Given the description of an element on the screen output the (x, y) to click on. 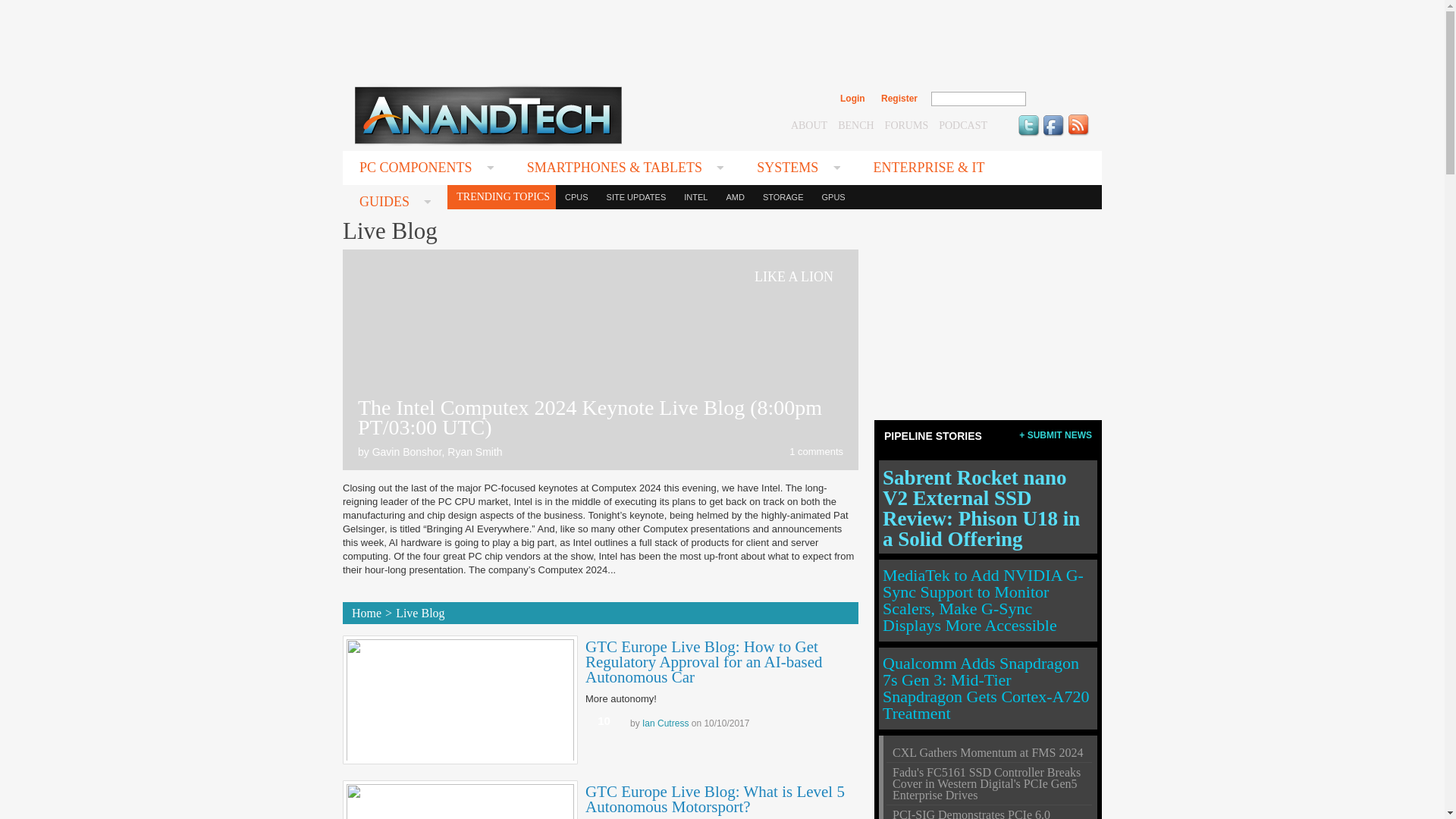
search (1059, 98)
search (1059, 98)
Register (898, 98)
BENCH (855, 125)
search (1059, 98)
PODCAST (963, 125)
FORUMS (906, 125)
Login (852, 98)
ABOUT (808, 125)
